Given the description of an element on the screen output the (x, y) to click on. 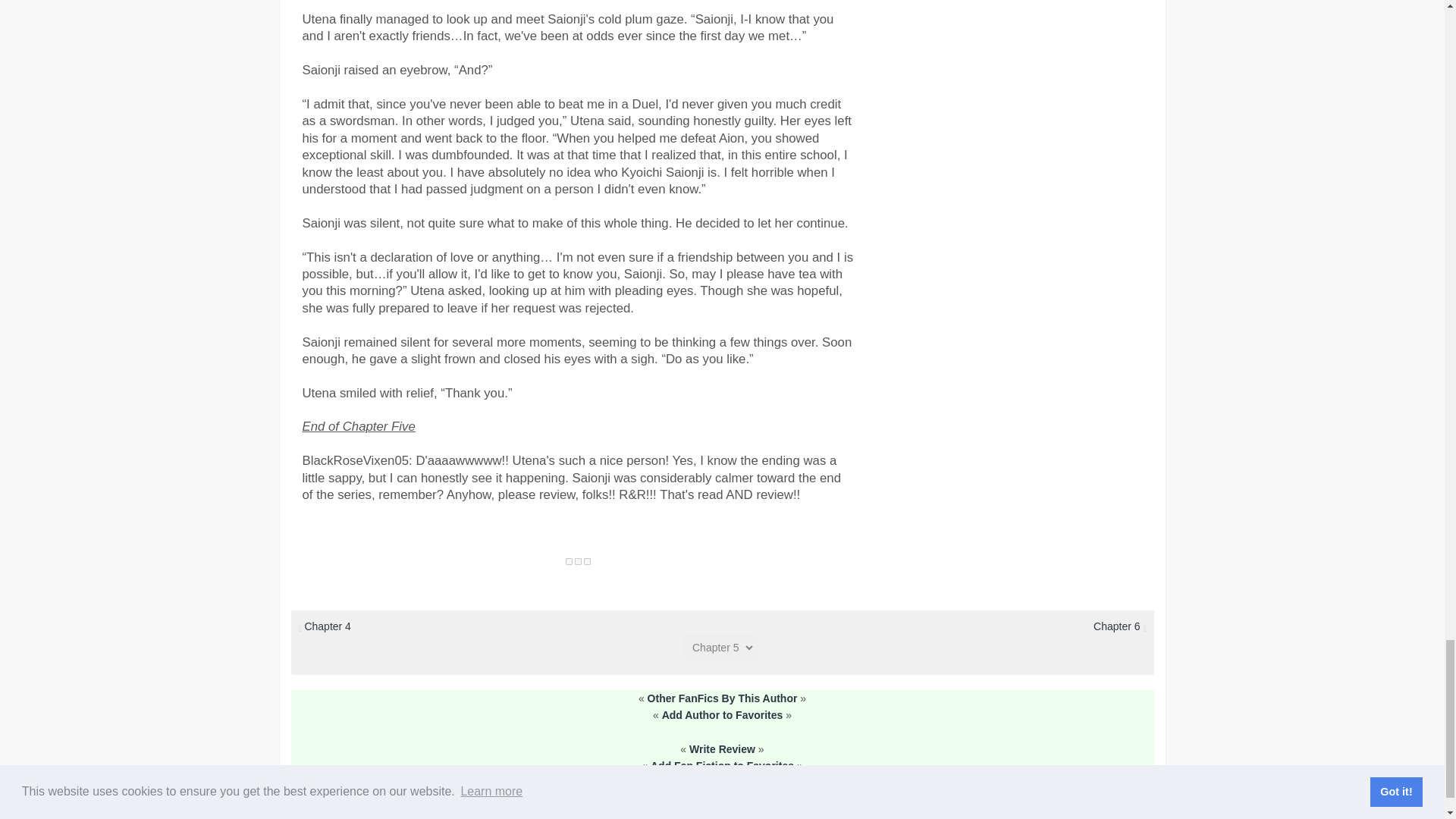
Add Author to Favorites (722, 715)
Chapter 4 (327, 625)
Write Review (721, 748)
Other FanFics By This Author (722, 698)
Chapter 6 (1117, 625)
